Given the description of an element on the screen output the (x, y) to click on. 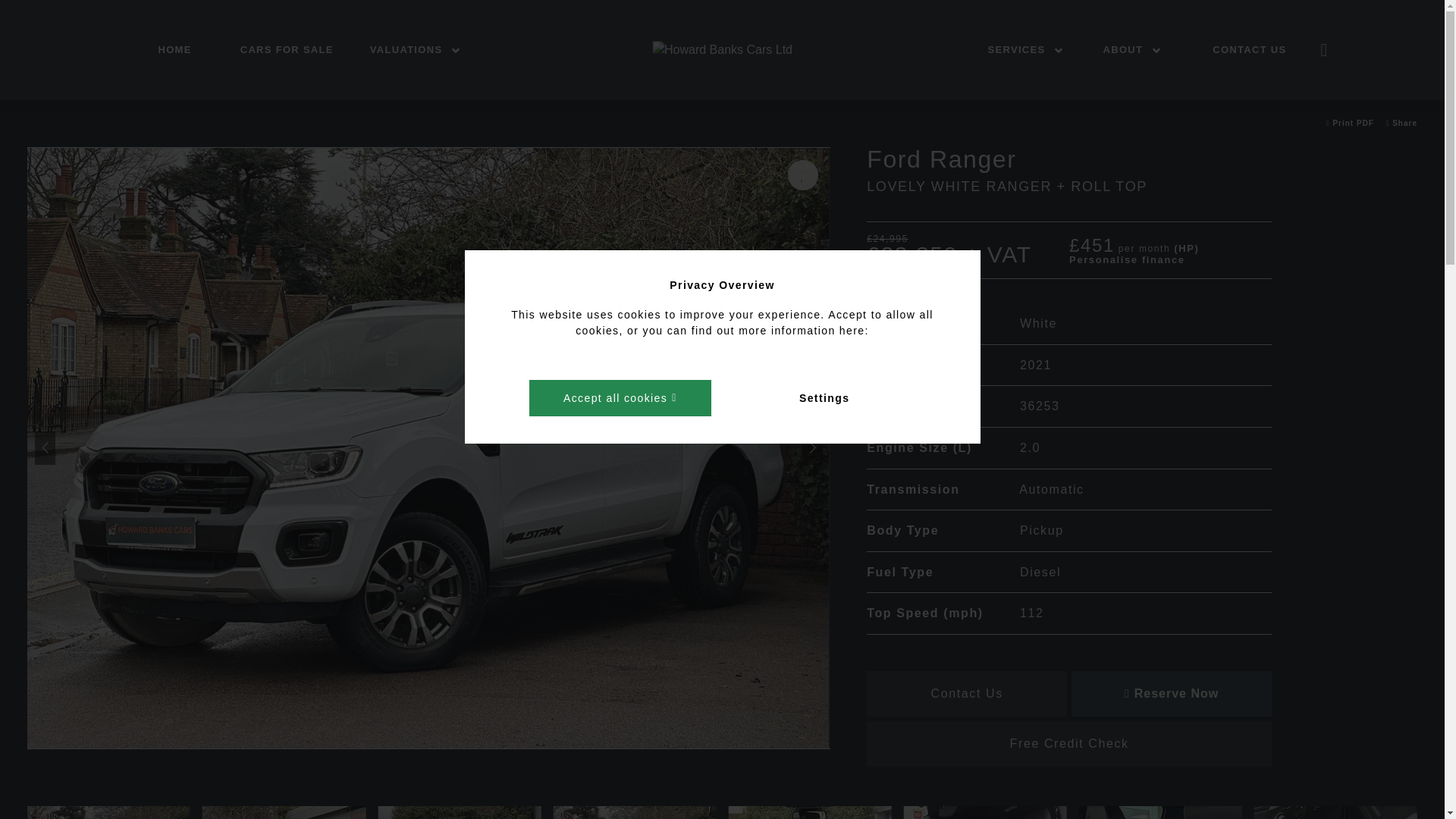
About (1135, 49)
VALUATIONS (418, 49)
Services (1029, 49)
SERVICES (1029, 49)
CONTACT US (1249, 49)
Contact Howard Banks Cars Ltd (1324, 51)
ABOUT (1135, 49)
Contact Us (1249, 49)
HOME (174, 49)
Valuations (418, 49)
Home (174, 49)
Cars For Sale (286, 49)
CARS FOR SALE (286, 49)
Howard Banks Cars Ltd (722, 49)
